Given the description of an element on the screen output the (x, y) to click on. 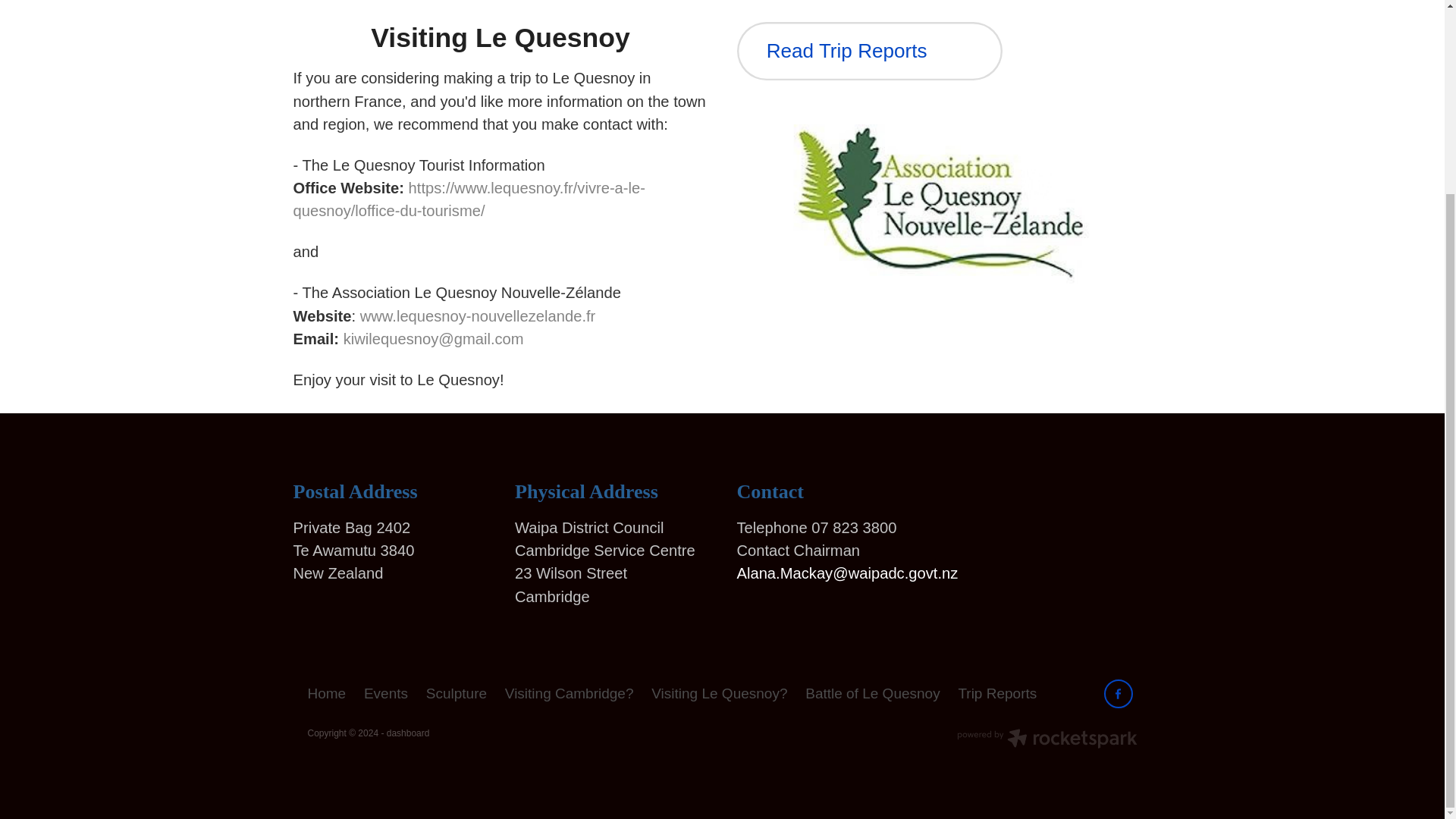
Visiting Cambridge? (569, 693)
A link to this website's Facebook. (1117, 693)
Trip Reports (997, 693)
Home (331, 693)
Sculpture (456, 693)
Events (385, 693)
Rocketspark website builder (1046, 740)
Visiting Le Quesnoy? (719, 693)
www.lequesnoy-nouvellezelande.fr (477, 315)
dashboard (408, 733)
Battle of Le Quesnoy (872, 693)
Read Trip Reports (869, 51)
